Given the description of an element on the screen output the (x, y) to click on. 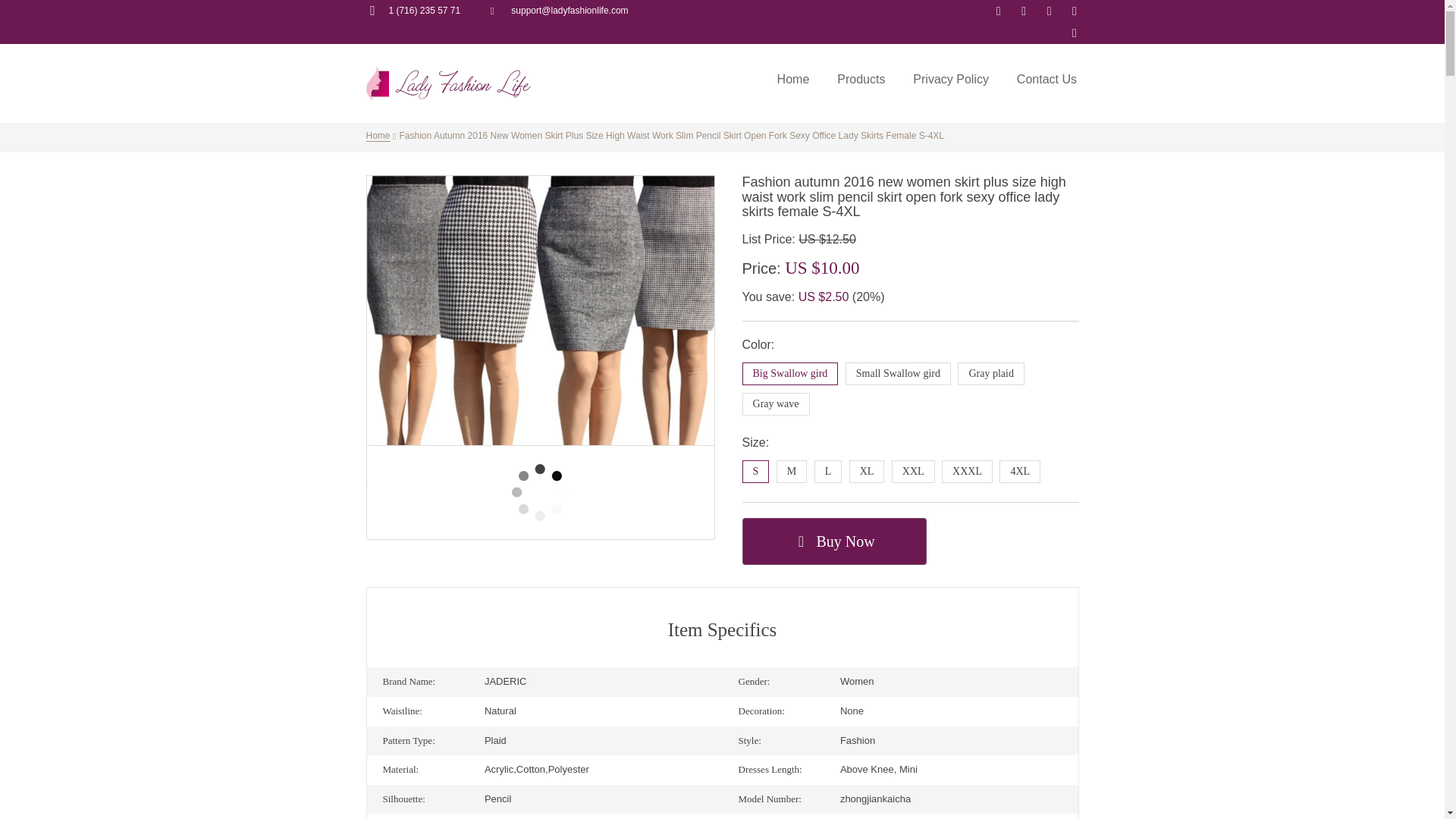
Privacy Policy (950, 80)
Home (377, 135)
Buy Now (834, 541)
Contact Us (1046, 80)
